Given the description of an element on the screen output the (x, y) to click on. 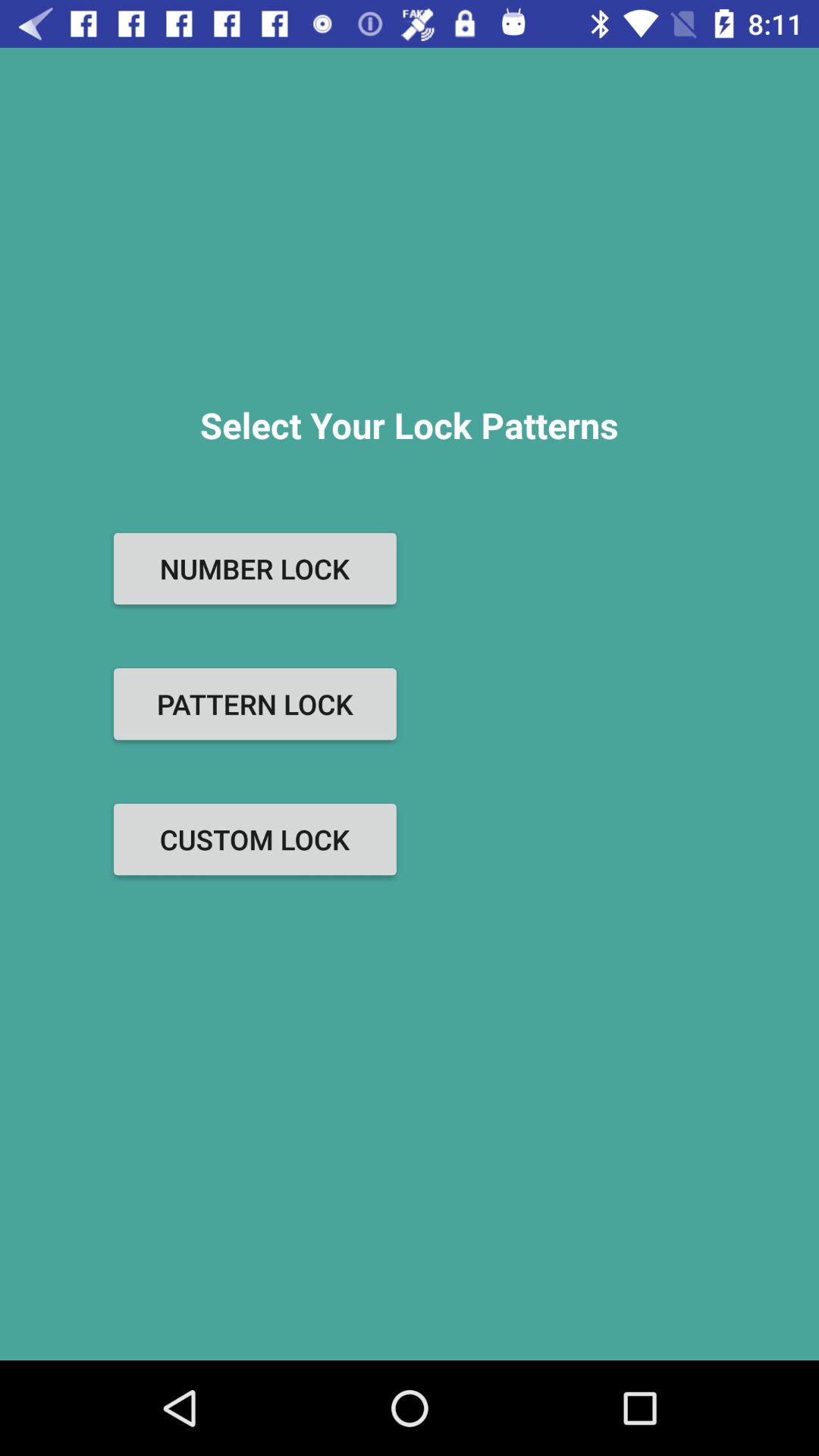
open the number lock item (254, 568)
